Given the description of an element on the screen output the (x, y) to click on. 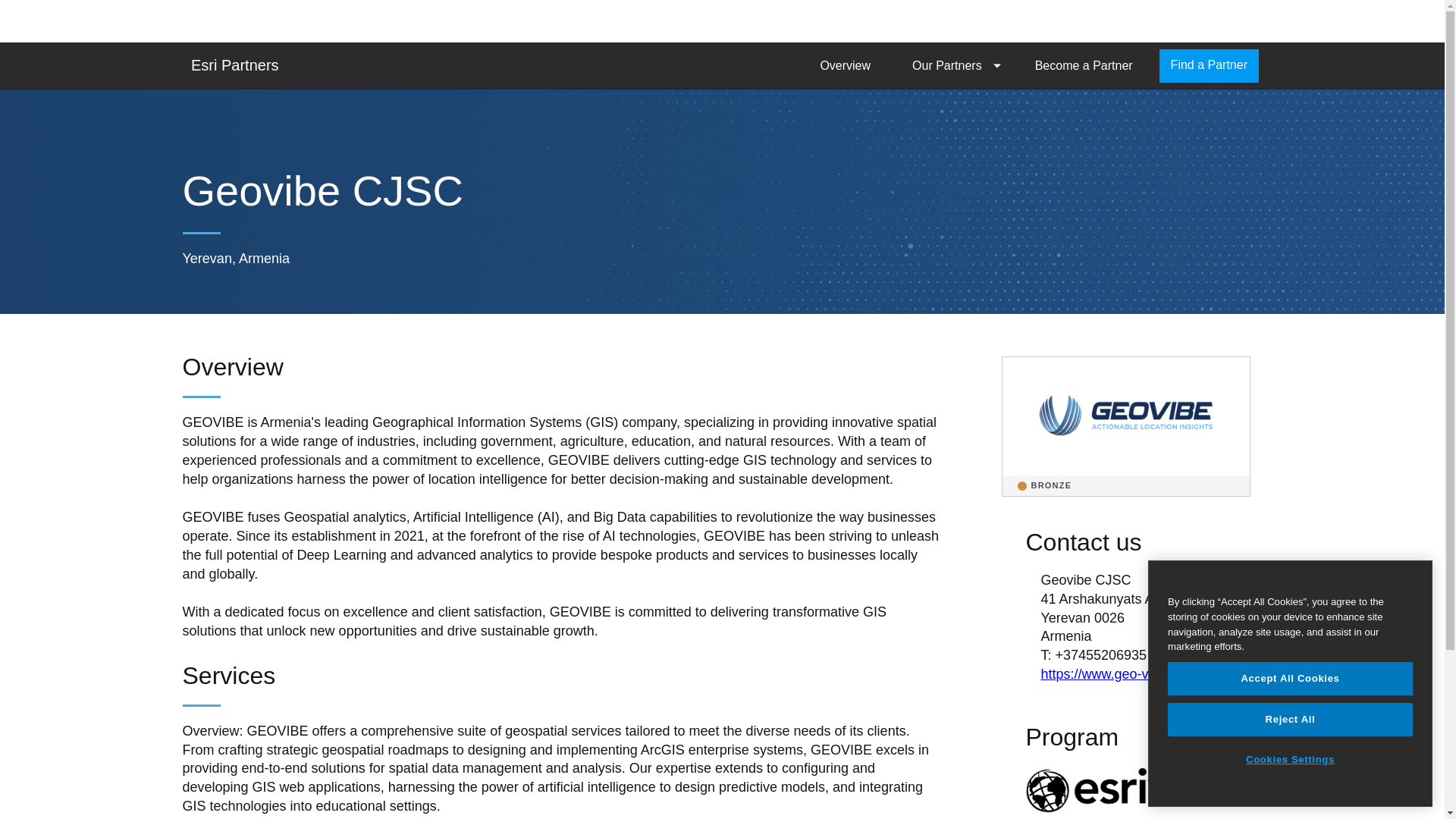
Reject All (1289, 719)
Cookies Settings (1289, 759)
Overview (844, 65)
Esri Partners (234, 64)
Accept All Cookies (1289, 678)
Find a Partner (1208, 64)
Our Partners (952, 65)
Become a Partner (1083, 65)
